Given the description of an element on the screen output the (x, y) to click on. 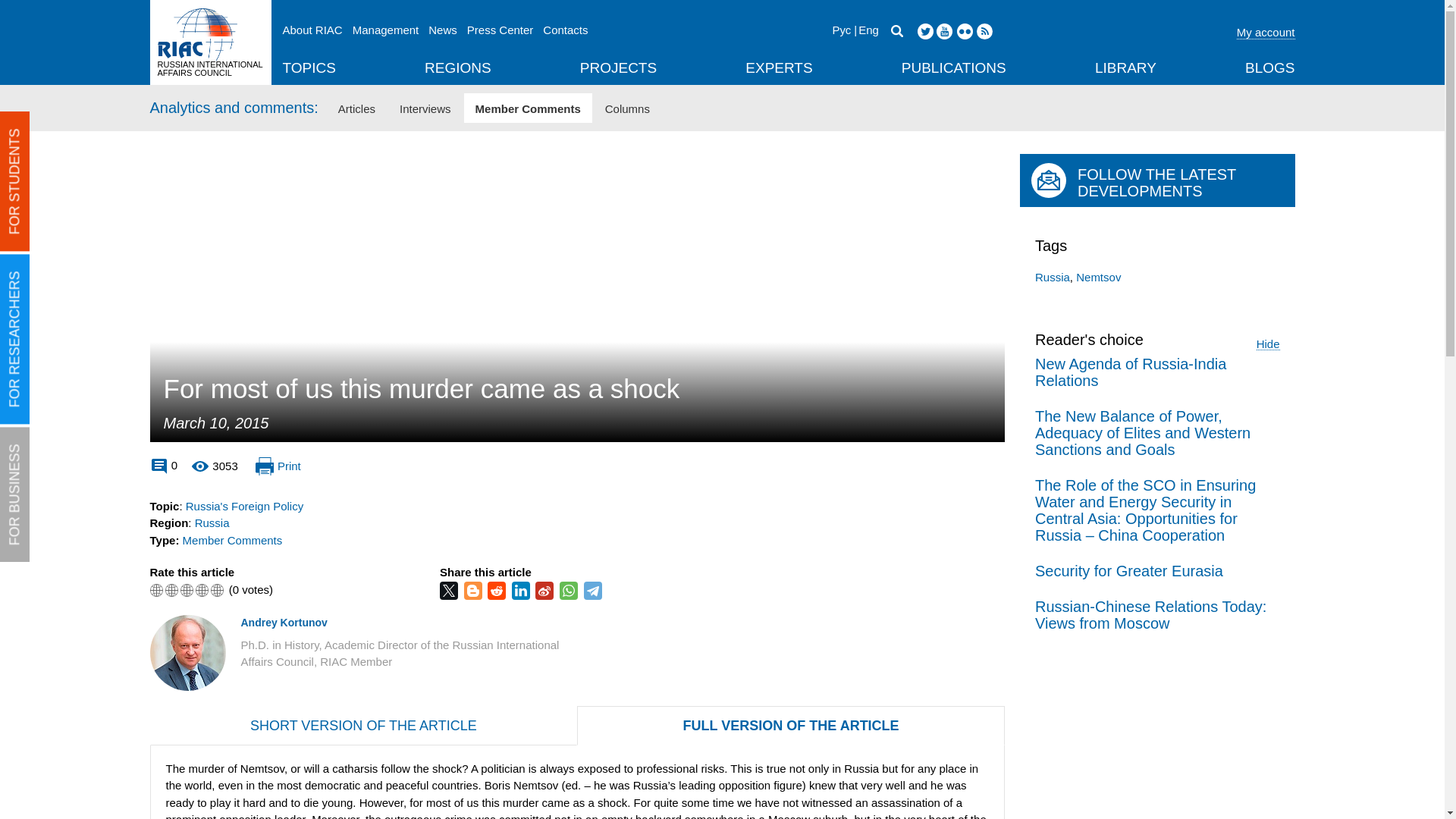
RUSSIAN INTERNATIONAL AFFAIRS COUNCIL (209, 42)
LinkedIn (522, 590)
Management (385, 29)
TOPICS (308, 69)
Sina Weibo (545, 590)
PROJECTS (617, 69)
Eng (866, 30)
Twitter (450, 590)
I recommend (201, 590)
PUBLICATIONS (953, 69)
Interested (186, 590)
Highly recommend (217, 590)
About RIAC (312, 29)
reddit (497, 590)
Contacts (565, 29)
